Given the description of an element on the screen output the (x, y) to click on. 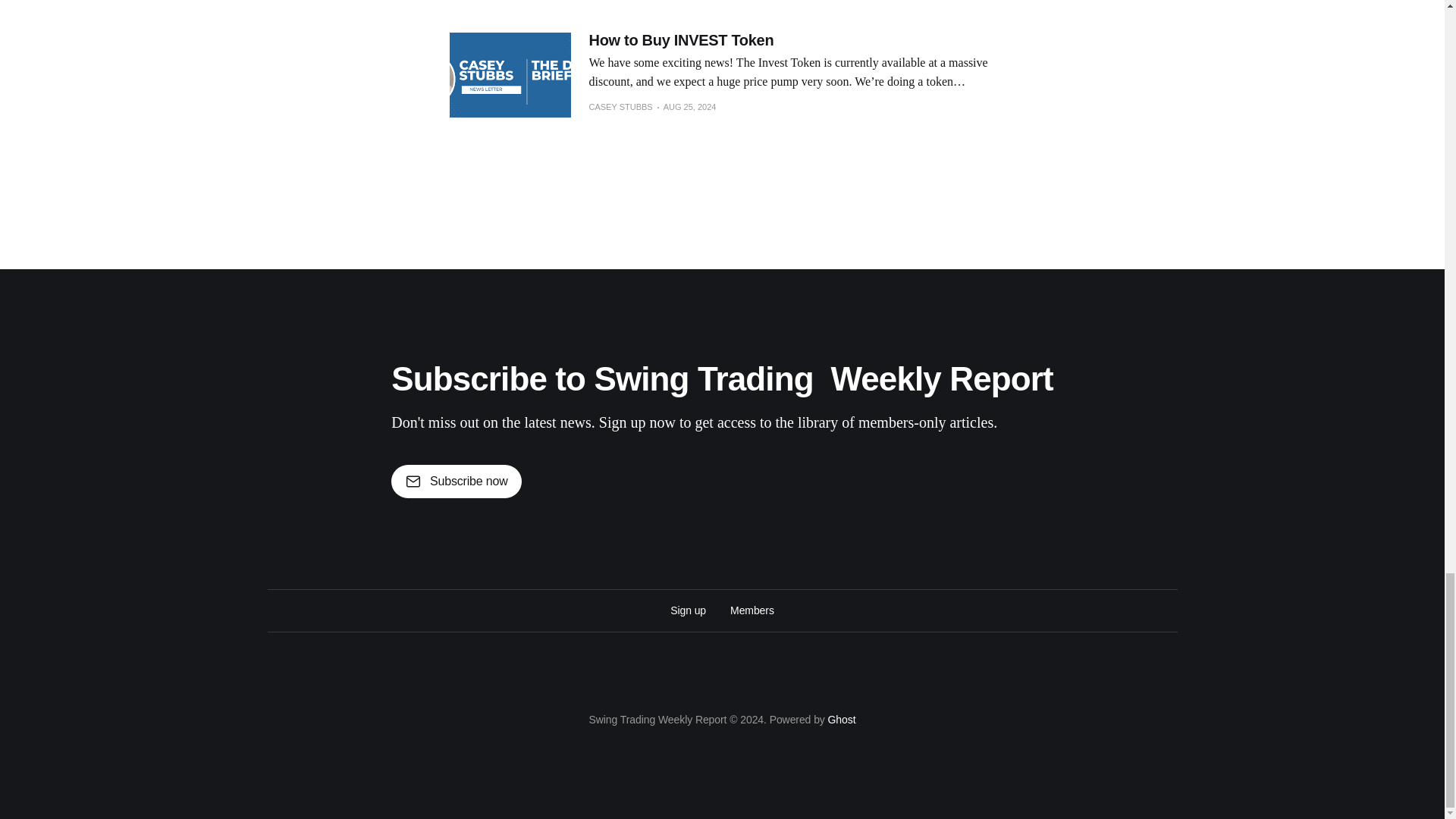
Members (752, 610)
Subscribe now (456, 481)
Sign up (687, 610)
Ghost (842, 719)
